Given the description of an element on the screen output the (x, y) to click on. 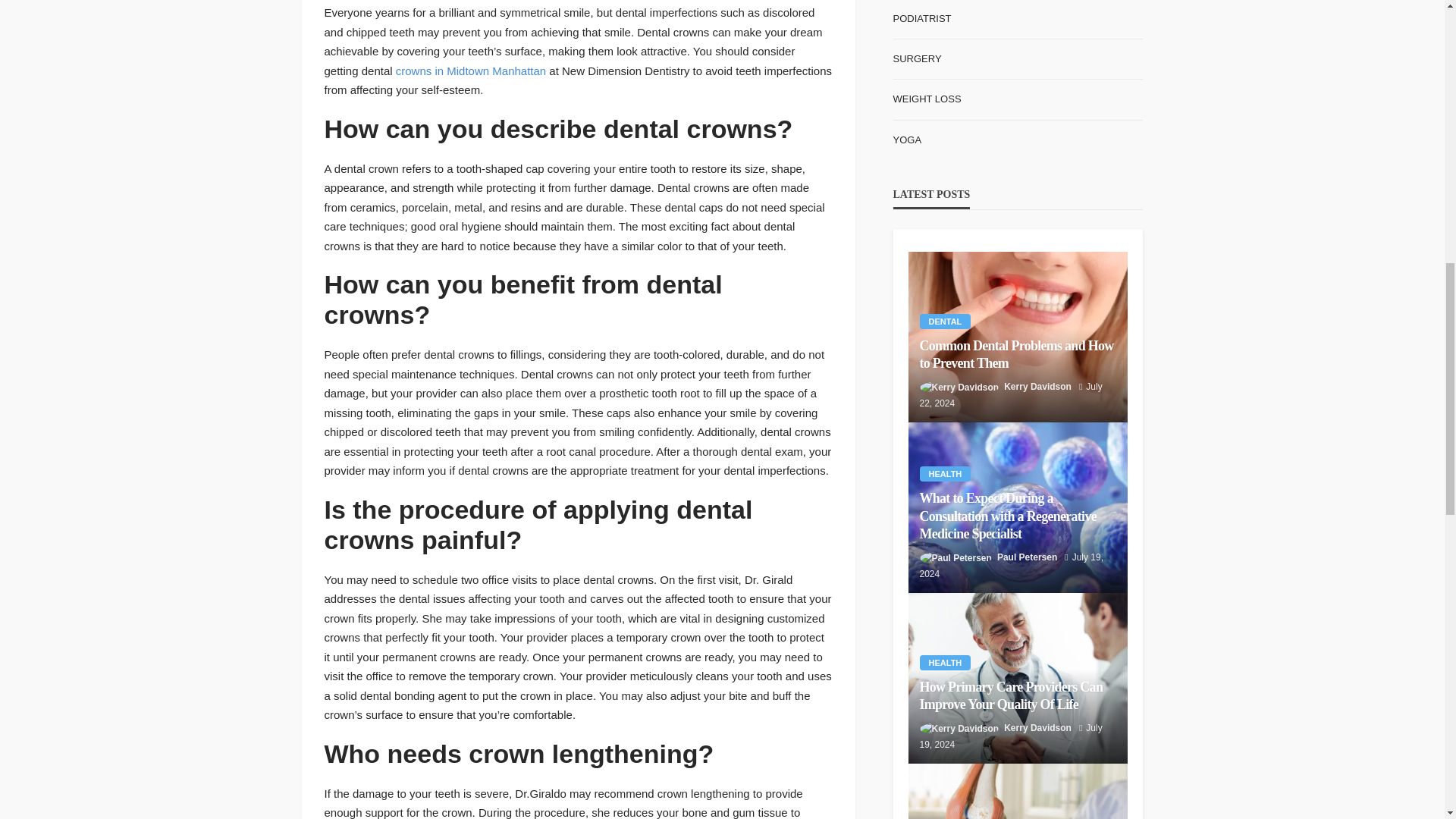
Health (944, 473)
Dental (944, 321)
Common Dental Problems and How to Prevent Them (1017, 355)
Common Dental Problems and How to Prevent Them (1018, 336)
